Given the description of an element on the screen output the (x, y) to click on. 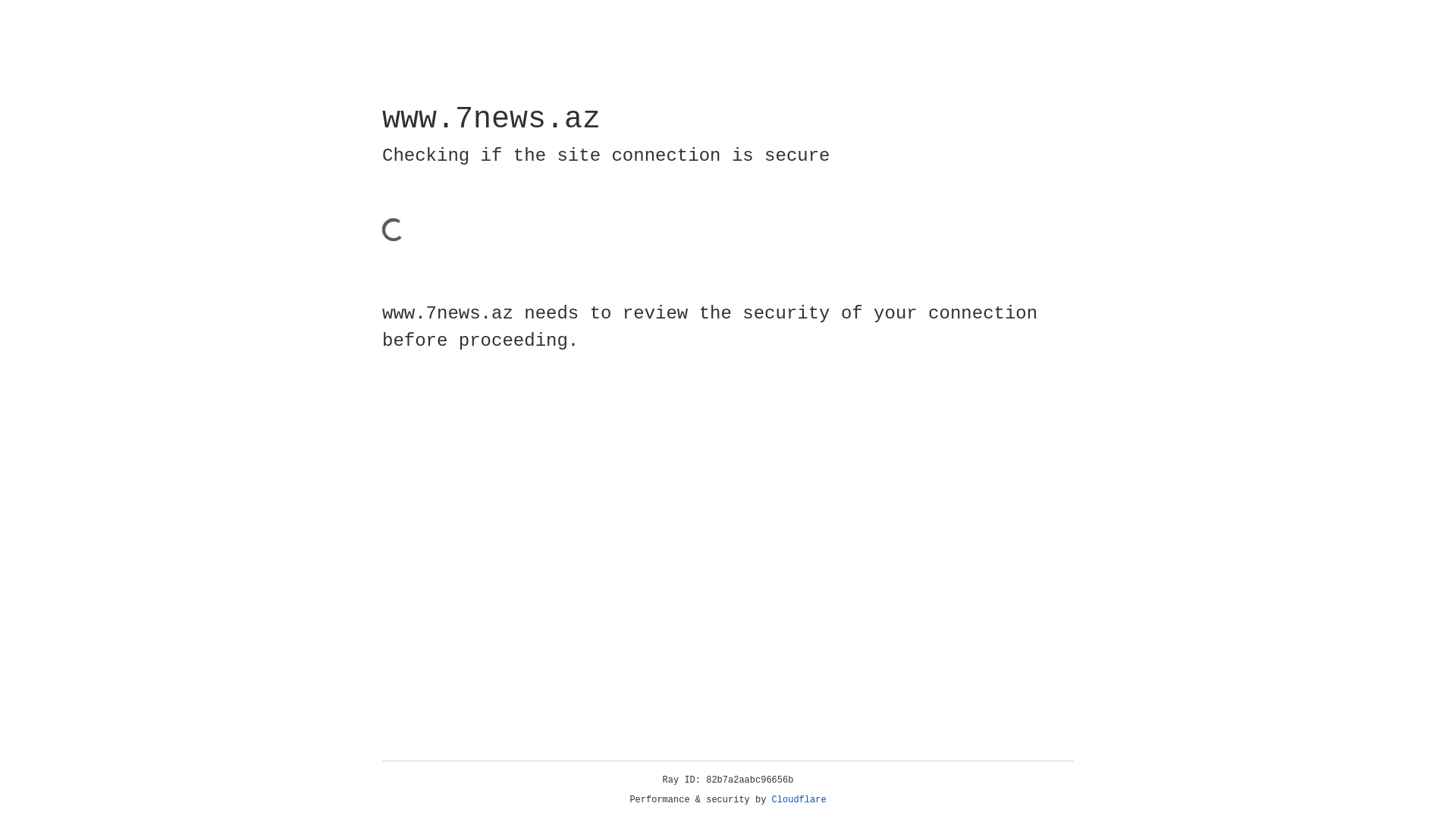
Cloudflare Element type: text (798, 799)
